Given the description of an element on the screen output the (x, y) to click on. 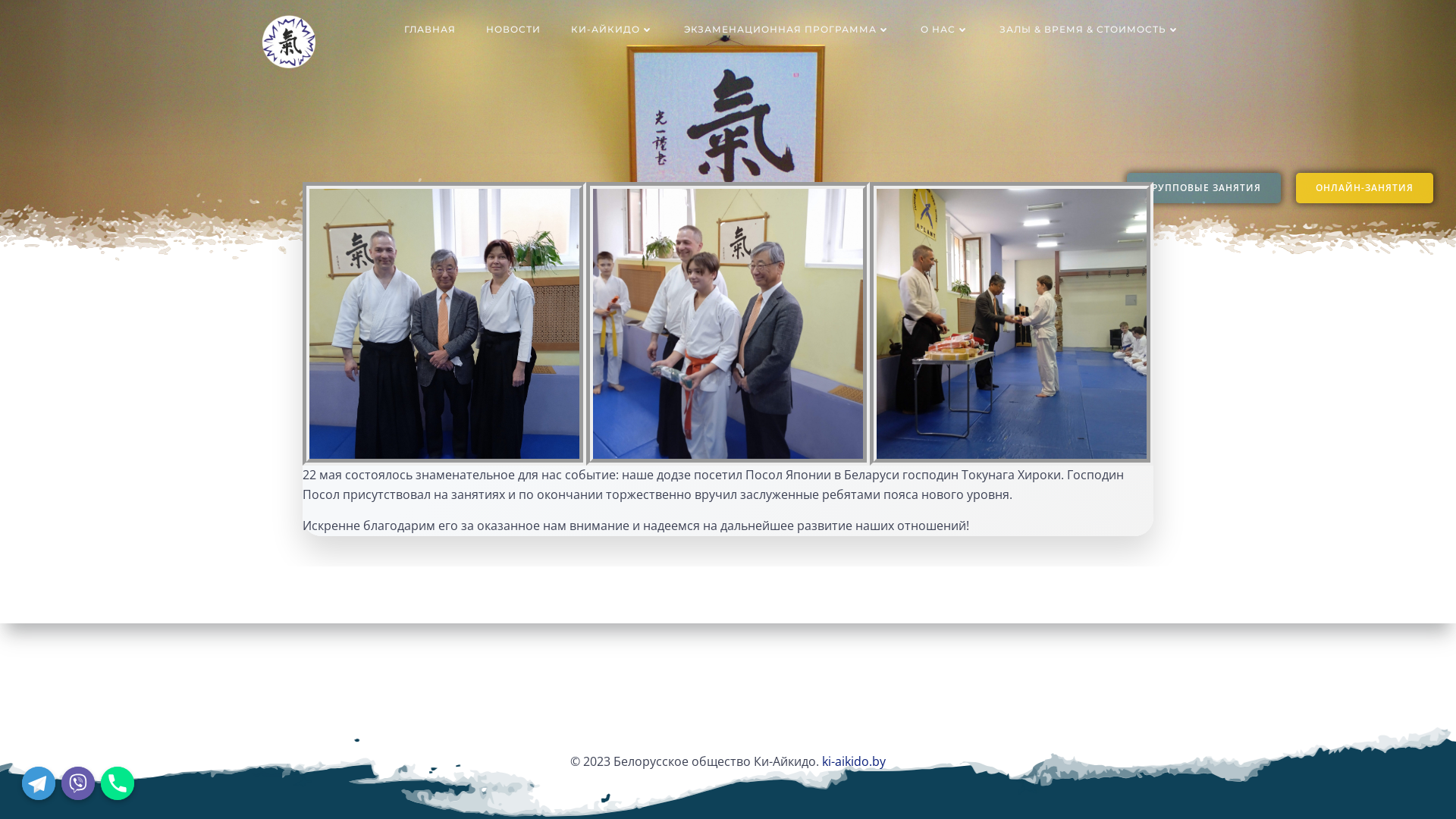
ki-aikido.by Element type: text (853, 761)
